Given the description of an element on the screen output the (x, y) to click on. 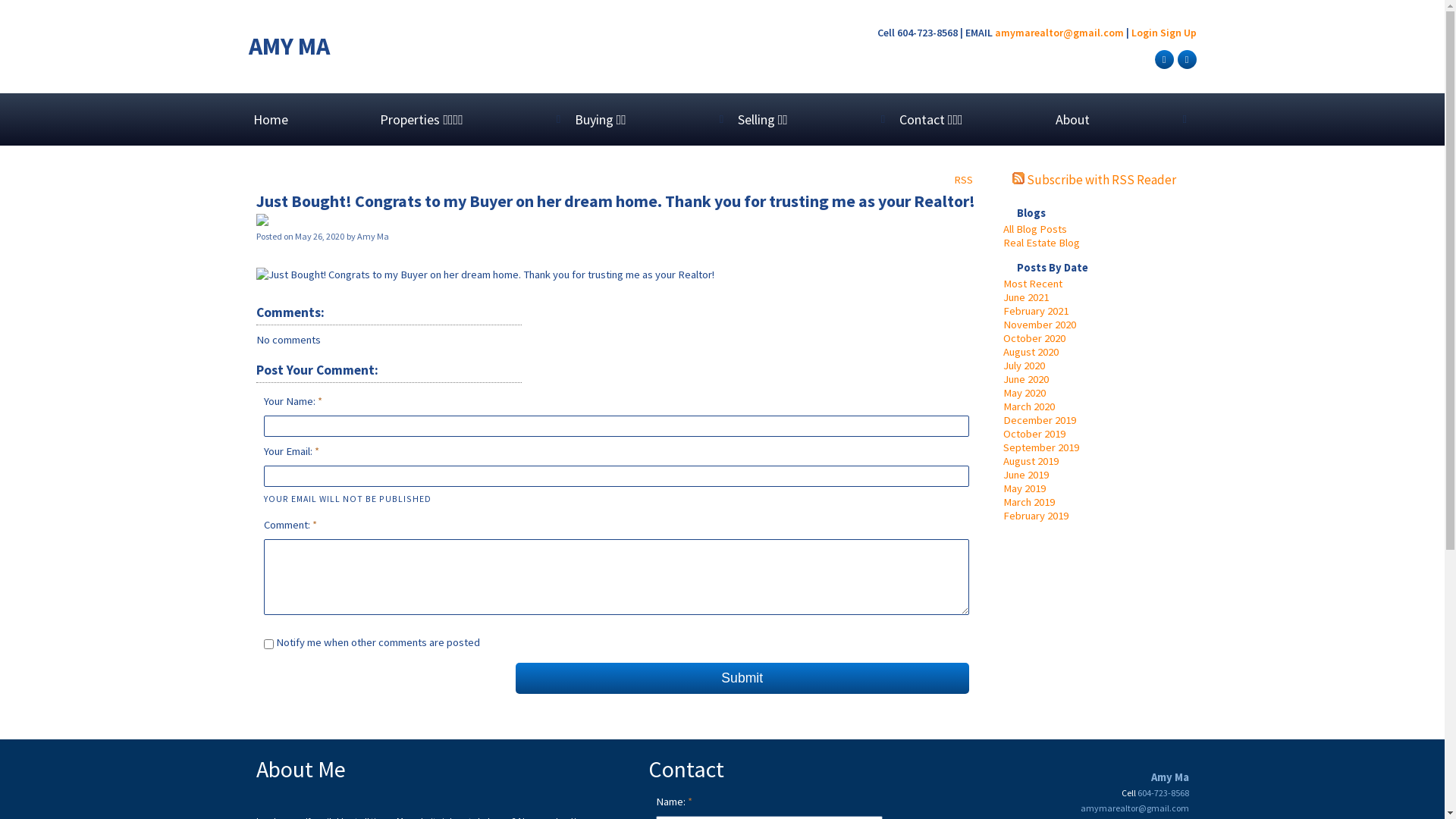
June 2020 Element type: text (1025, 378)
Most Recent Element type: text (1031, 283)
October 2020 Element type: text (1033, 338)
Sign Up Element type: text (1178, 32)
October 2019 Element type: text (1033, 433)
August 2020 Element type: text (1029, 351)
amymarealtor@gmail.com Element type: text (1058, 32)
June 2019 Element type: text (1025, 474)
September 2019 Element type: text (1040, 447)
Subscribe with RSS Reader Element type: text (1093, 179)
June 2021 Element type: text (1025, 297)
Submit Element type: text (742, 677)
March 2020 Element type: text (1028, 406)
February 2019 Element type: text (1034, 515)
About Element type: text (1072, 119)
All Blog Posts Element type: text (1034, 228)
May 2019 Element type: text (1023, 488)
RSS Element type: text (962, 178)
Home Element type: text (312, 119)
Real Estate Blog Element type: text (1040, 242)
Login Element type: text (1144, 32)
August 2019 Element type: text (1029, 460)
amymarealtor@gmail.com Element type: text (1133, 807)
December 2019 Element type: text (1038, 419)
November 2020 Element type: text (1038, 324)
July 2020 Element type: text (1023, 365)
May 2020 Element type: text (1023, 392)
February 2021 Element type: text (1034, 310)
March 2019 Element type: text (1028, 501)
